Given the description of an element on the screen output the (x, y) to click on. 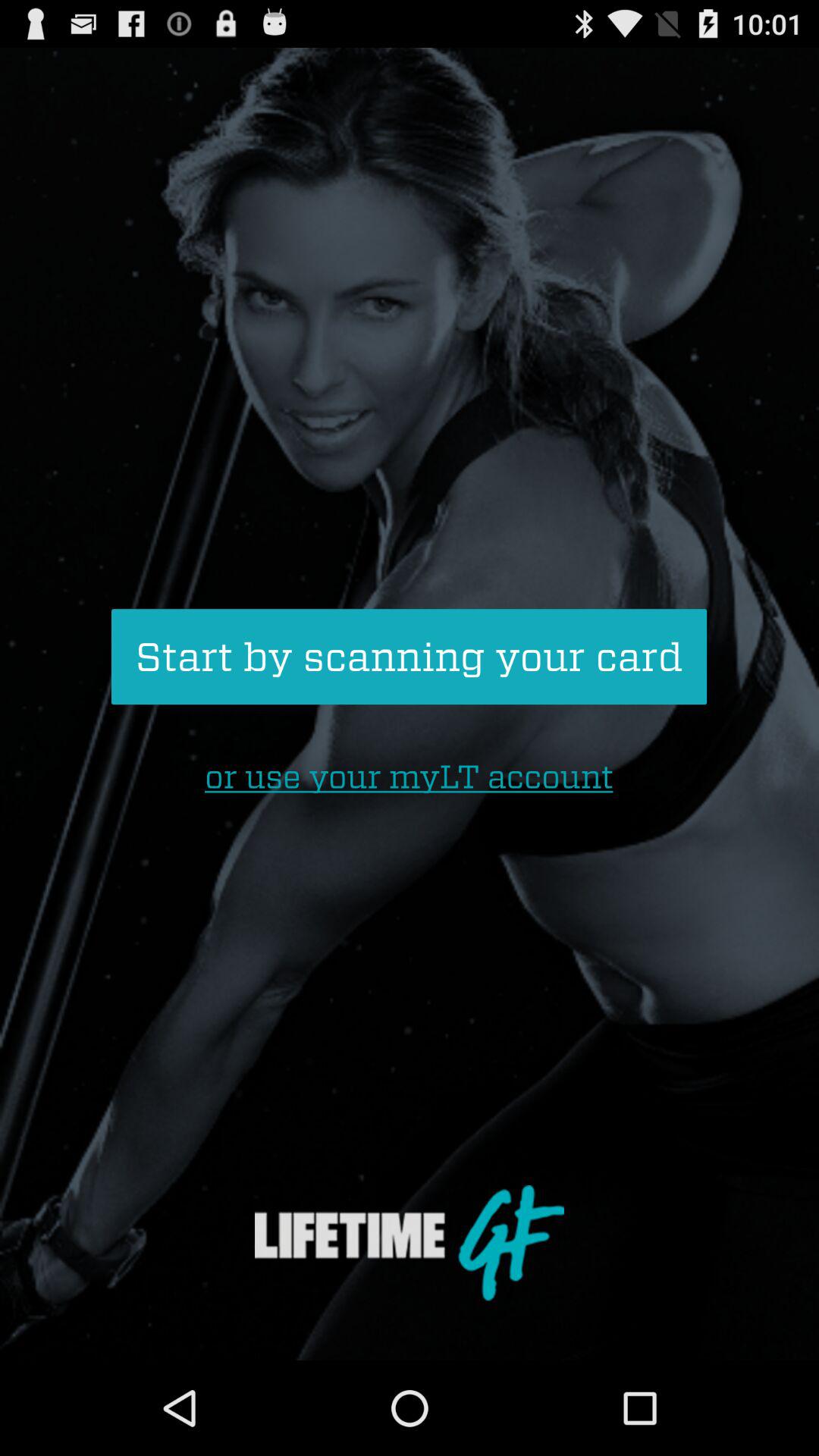
open item below the start by scanning item (408, 776)
